Given the description of an element on the screen output the (x, y) to click on. 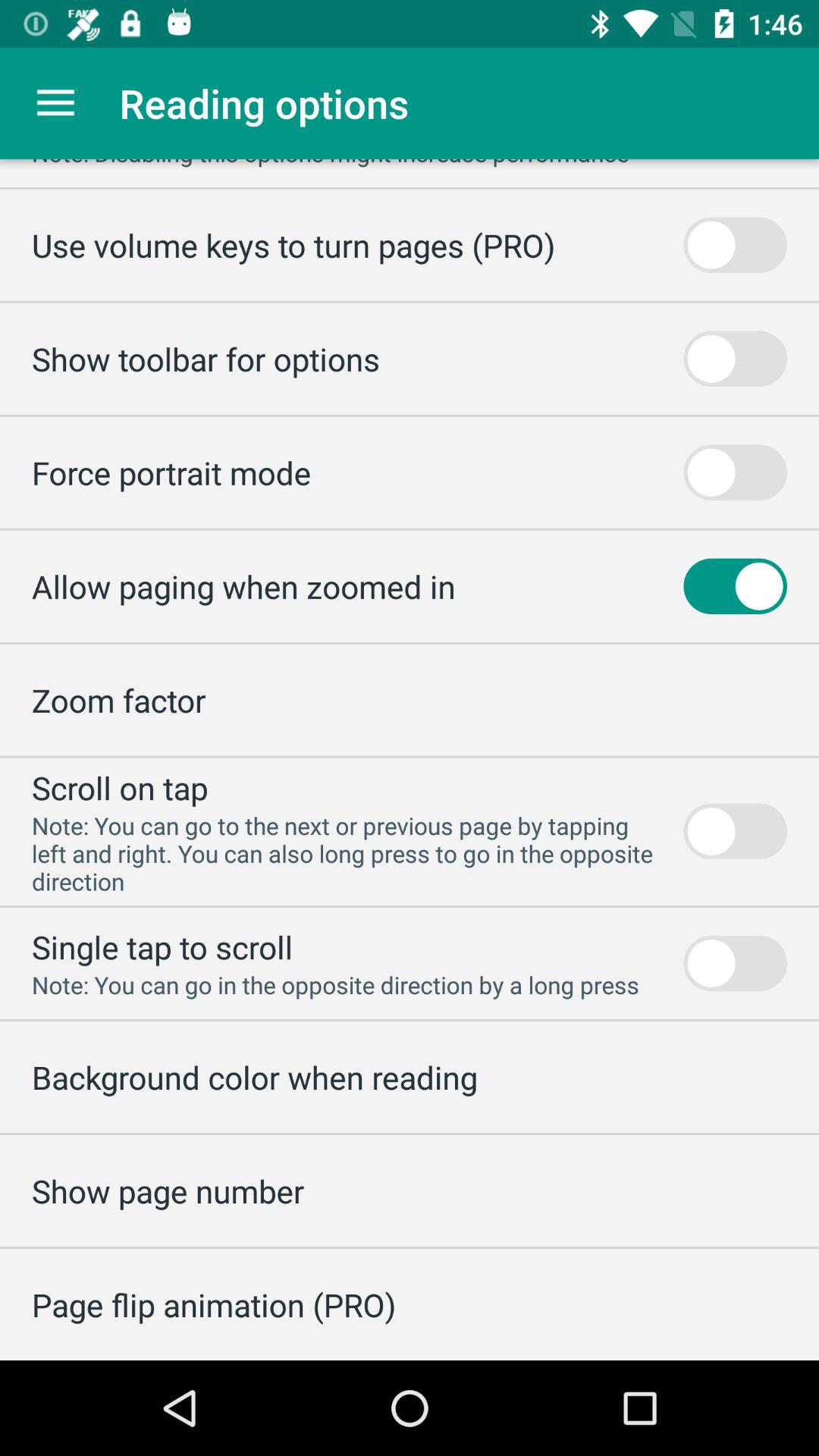
press the show page number icon (167, 1190)
